Given the description of an element on the screen output the (x, y) to click on. 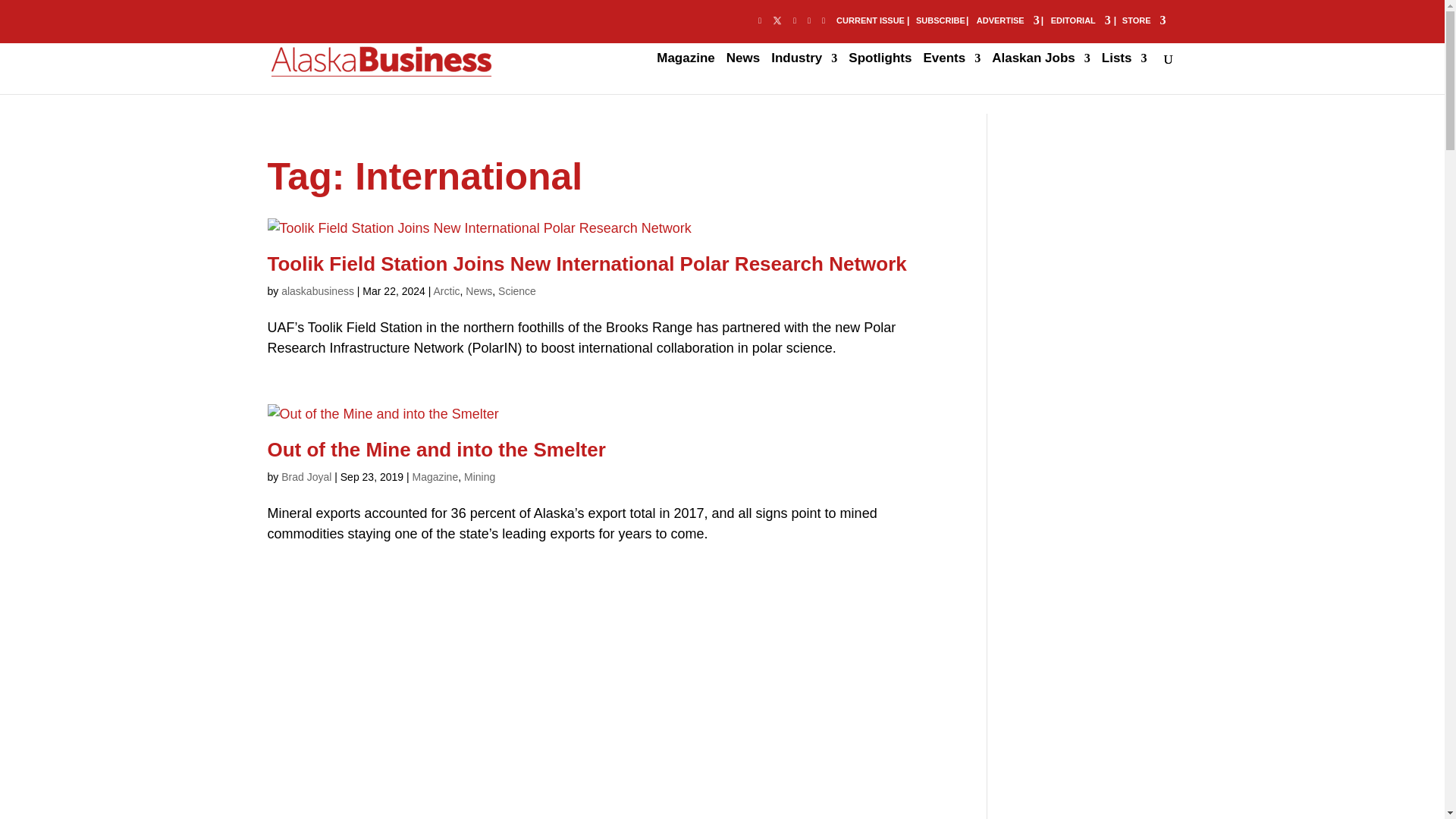
SUBSCRIBE (940, 23)
ADVERTISE (1007, 23)
STORE (1144, 23)
Magazine (685, 73)
Industry (804, 73)
EDITORIAL (1080, 23)
Posts by alaskabusiness (317, 291)
Posts by Brad Joyal (306, 476)
CURRENT ISSUE (869, 23)
